Given the description of an element on the screen output the (x, y) to click on. 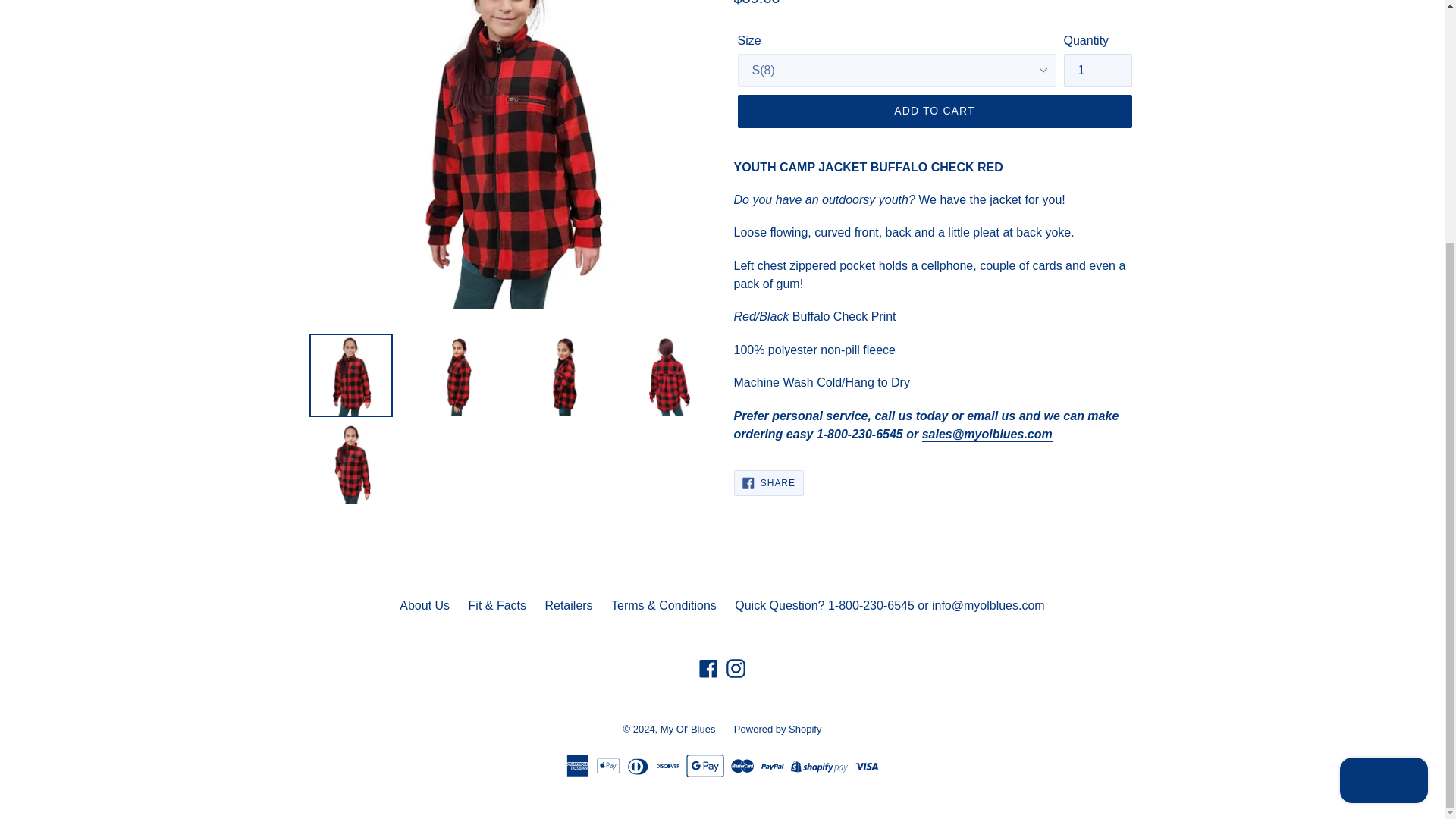
Shopify online store chat (1383, 444)
ADD TO CART (933, 111)
1 (1096, 70)
Facebook (768, 483)
About Us (708, 668)
Retailers (423, 604)
Instagram (568, 604)
Powered by Shopify (735, 668)
My Ol' Blues (777, 728)
